Given the description of an element on the screen output the (x, y) to click on. 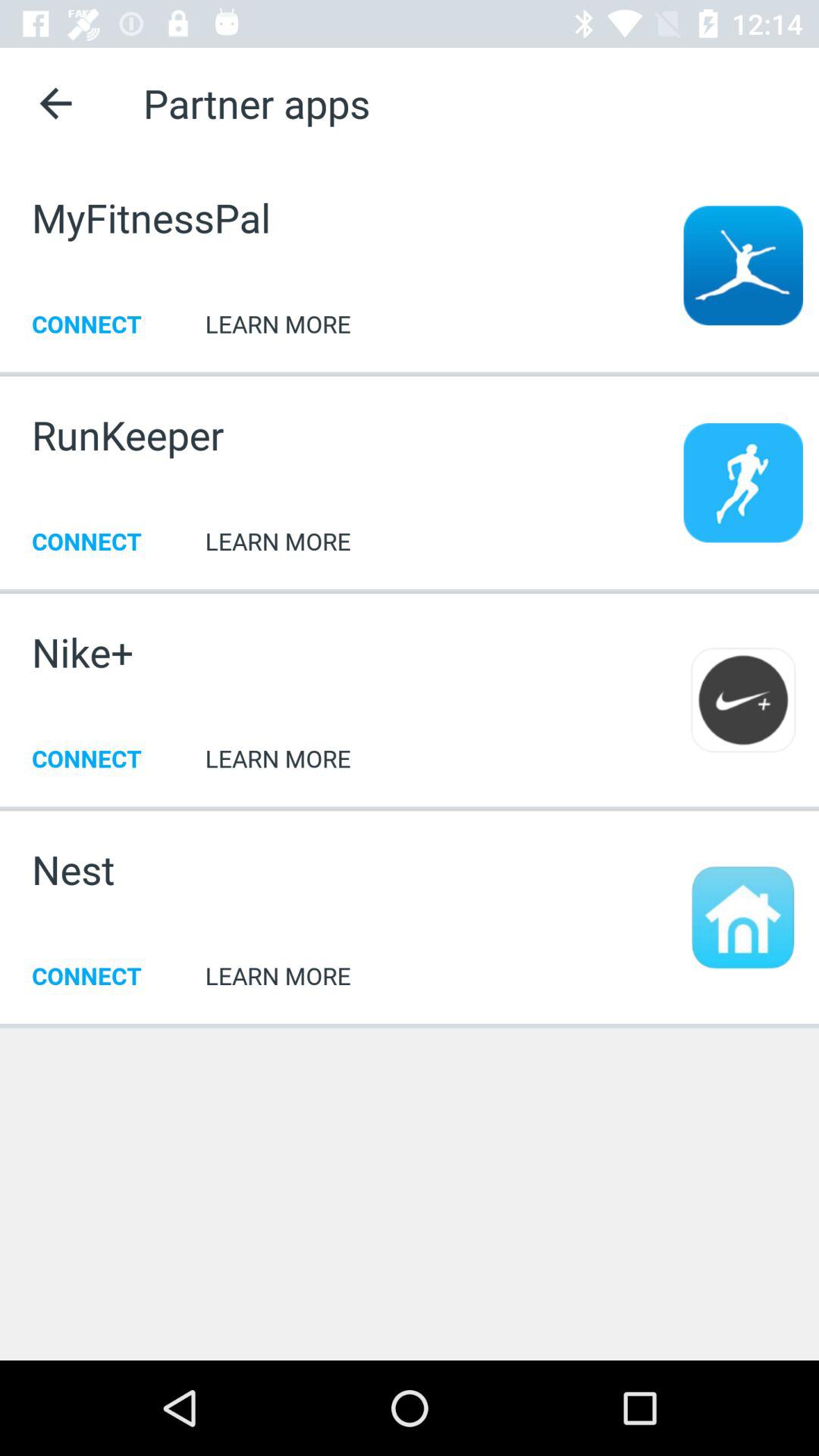
click icon to the left of the partner apps (55, 103)
